Given the description of an element on the screen output the (x, y) to click on. 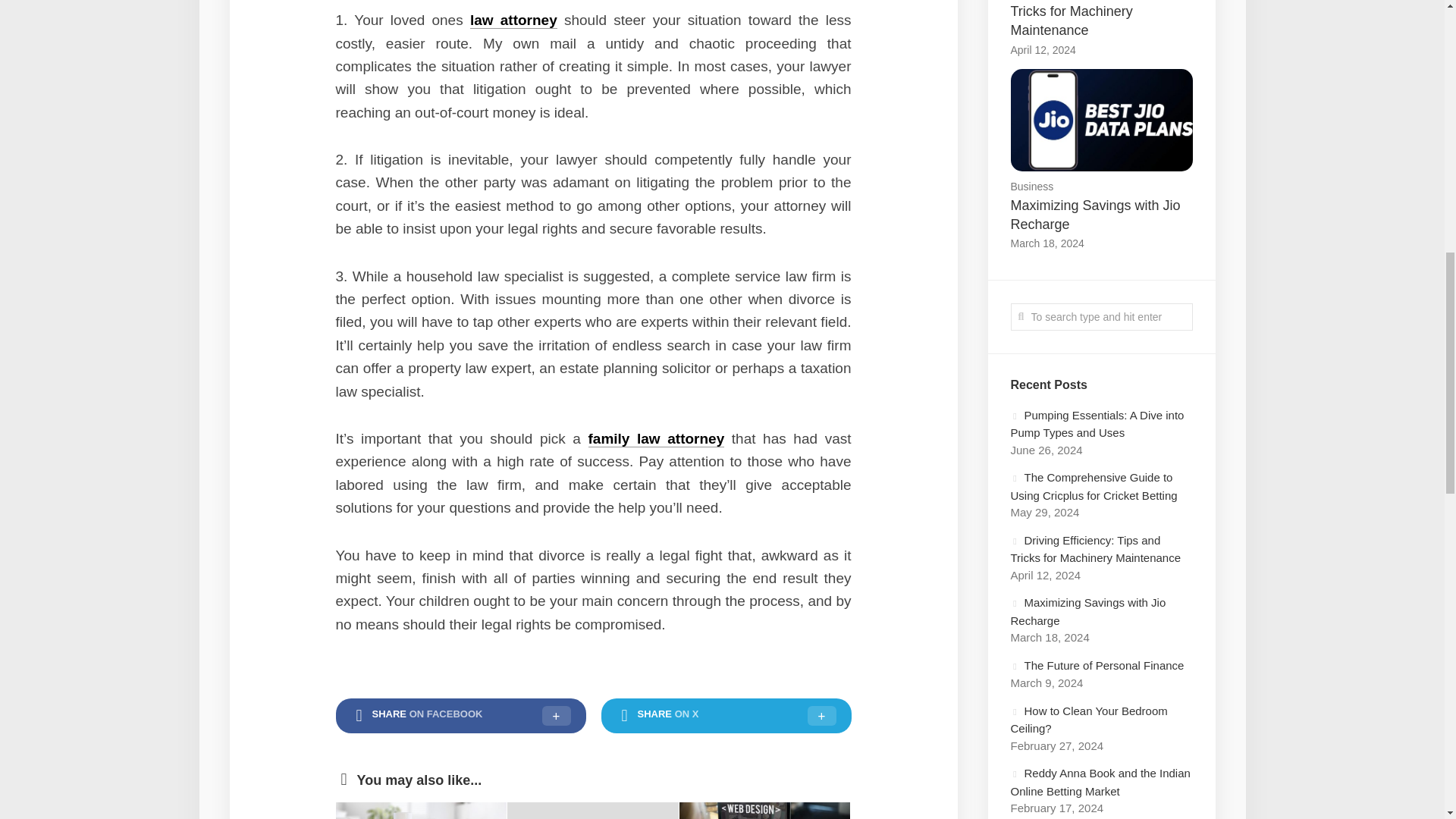
law attorney (513, 19)
To search type and hit enter (1101, 316)
family law attorney (656, 438)
SHARE ON FACEBOOK (459, 715)
To search type and hit enter (1101, 316)
SHARE ON X (724, 715)
